Given the description of an element on the screen output the (x, y) to click on. 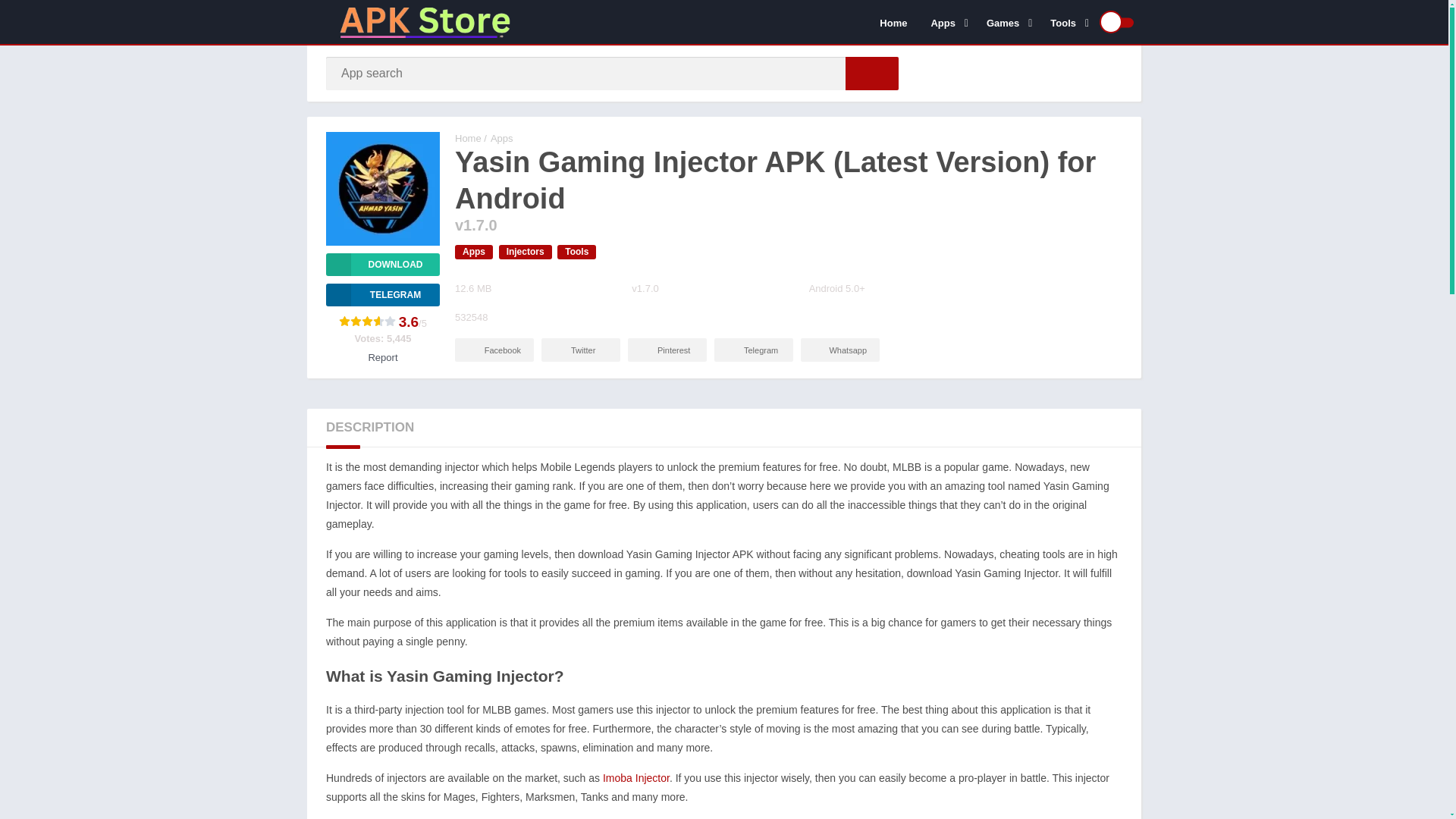
Telegram (382, 294)
App search (871, 73)
APK Store (467, 138)
Tools (1066, 22)
Download (382, 264)
Games (1006, 22)
Home (892, 22)
Apps (946, 22)
